Given the description of an element on the screen output the (x, y) to click on. 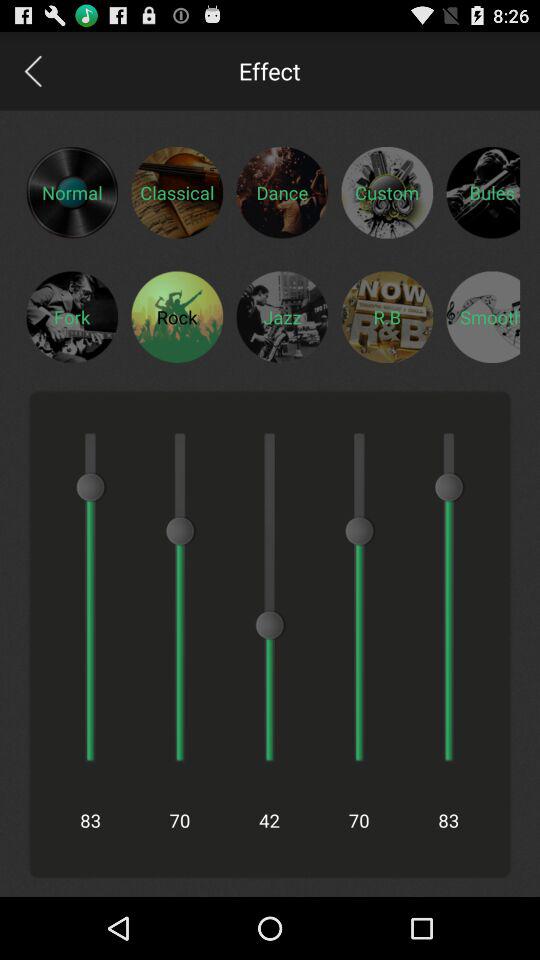
jazz (282, 316)
